Given the description of an element on the screen output the (x, y) to click on. 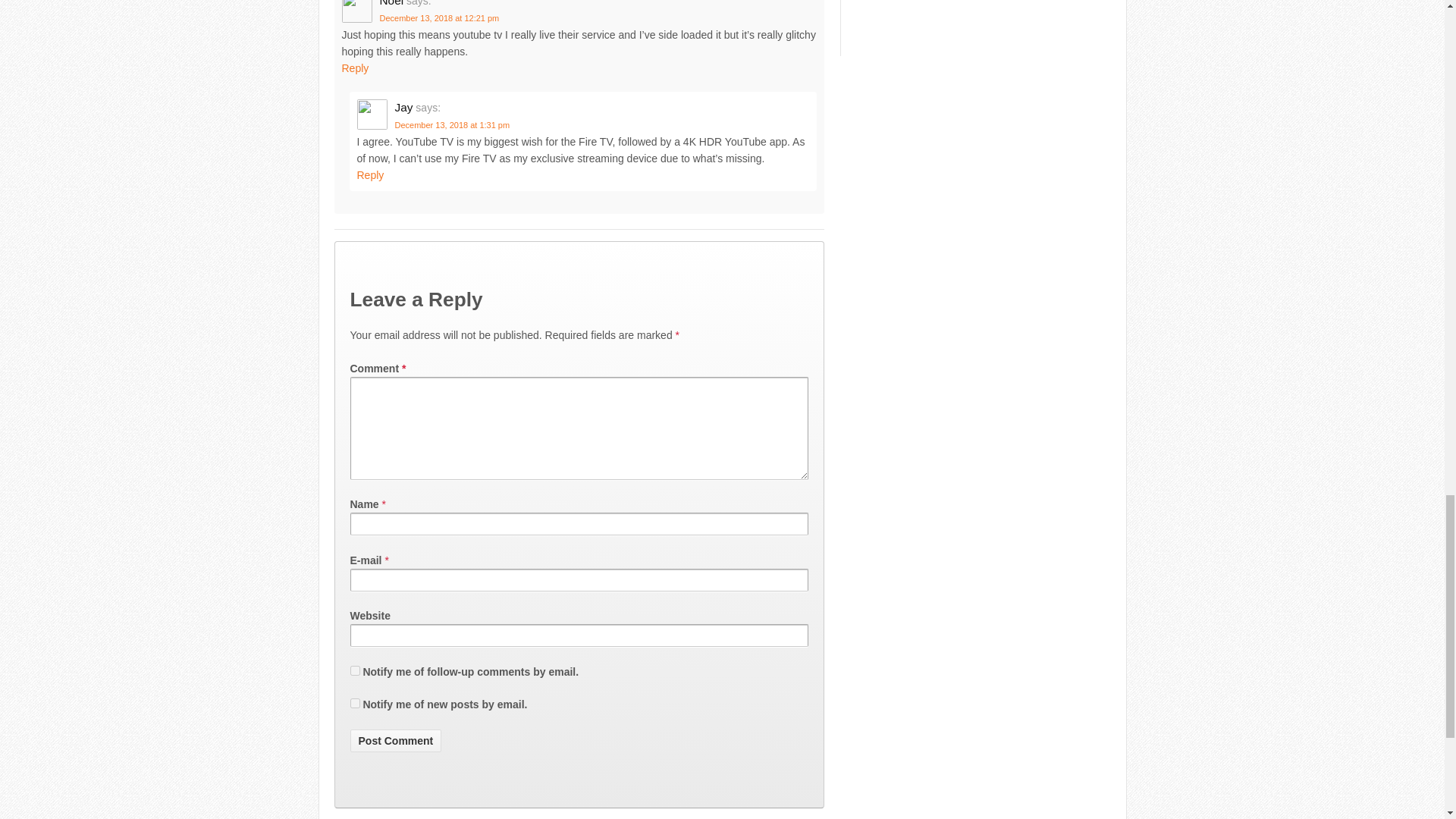
subscribe (354, 670)
subscribe (354, 703)
Post Comment (396, 740)
